Given the description of an element on the screen output the (x, y) to click on. 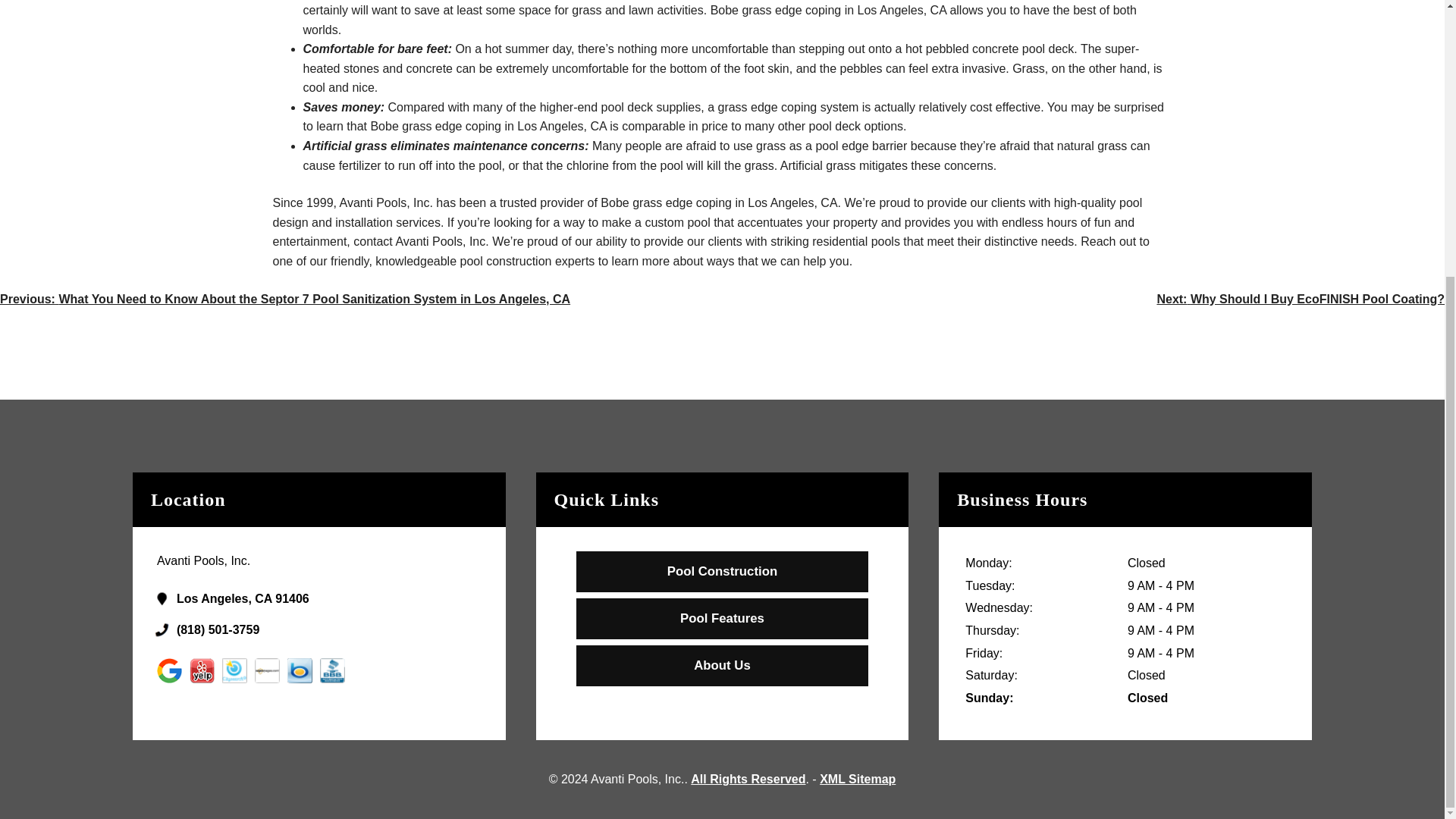
Terms and Conditions (747, 779)
Call Today (334, 629)
Pool Features (721, 618)
about us (721, 665)
Los Angeles, CA 91406 (334, 598)
Google Listing (334, 598)
